Given the description of an element on the screen output the (x, y) to click on. 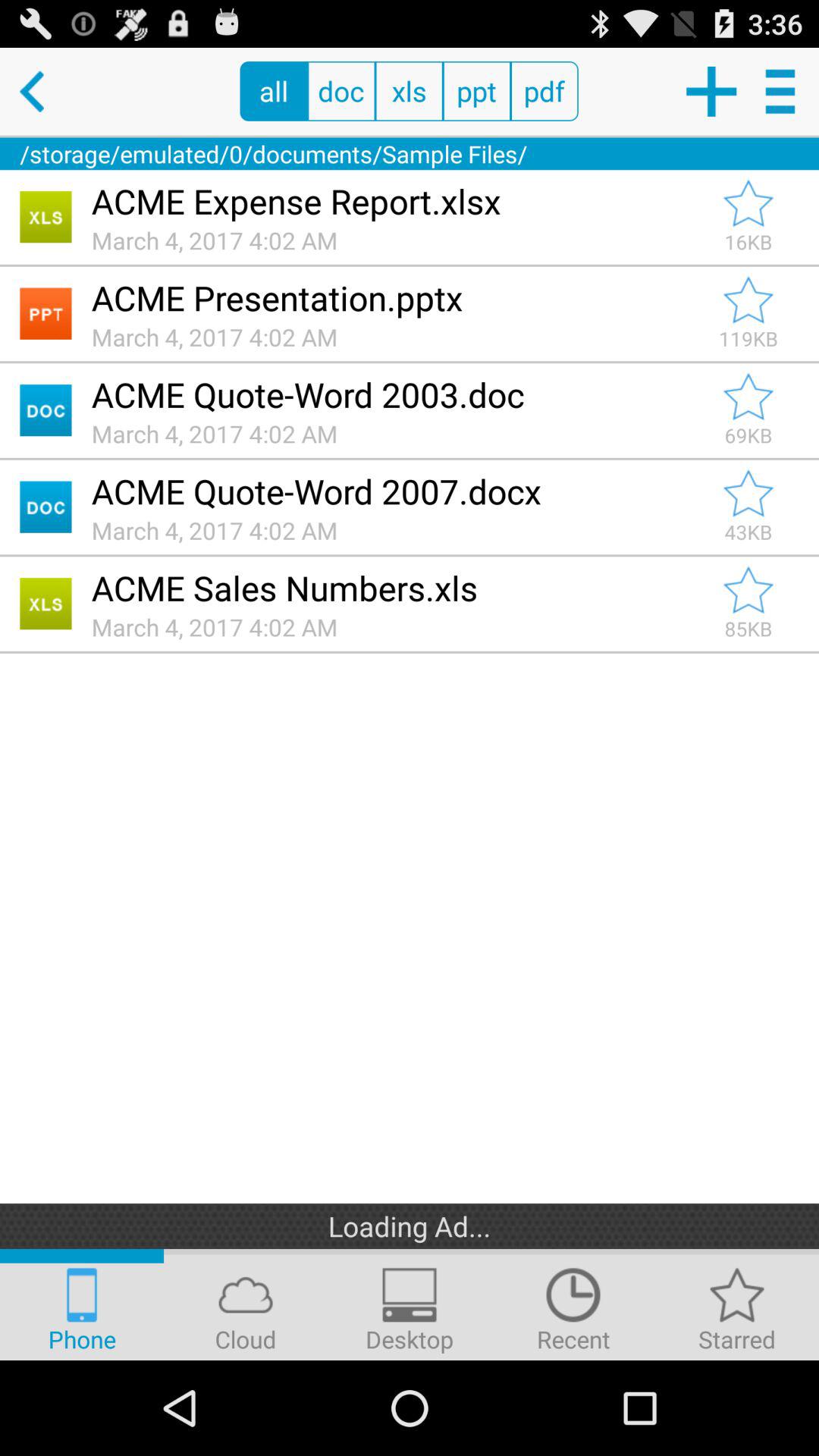
favorite file (748, 300)
